Given the description of an element on the screen output the (x, y) to click on. 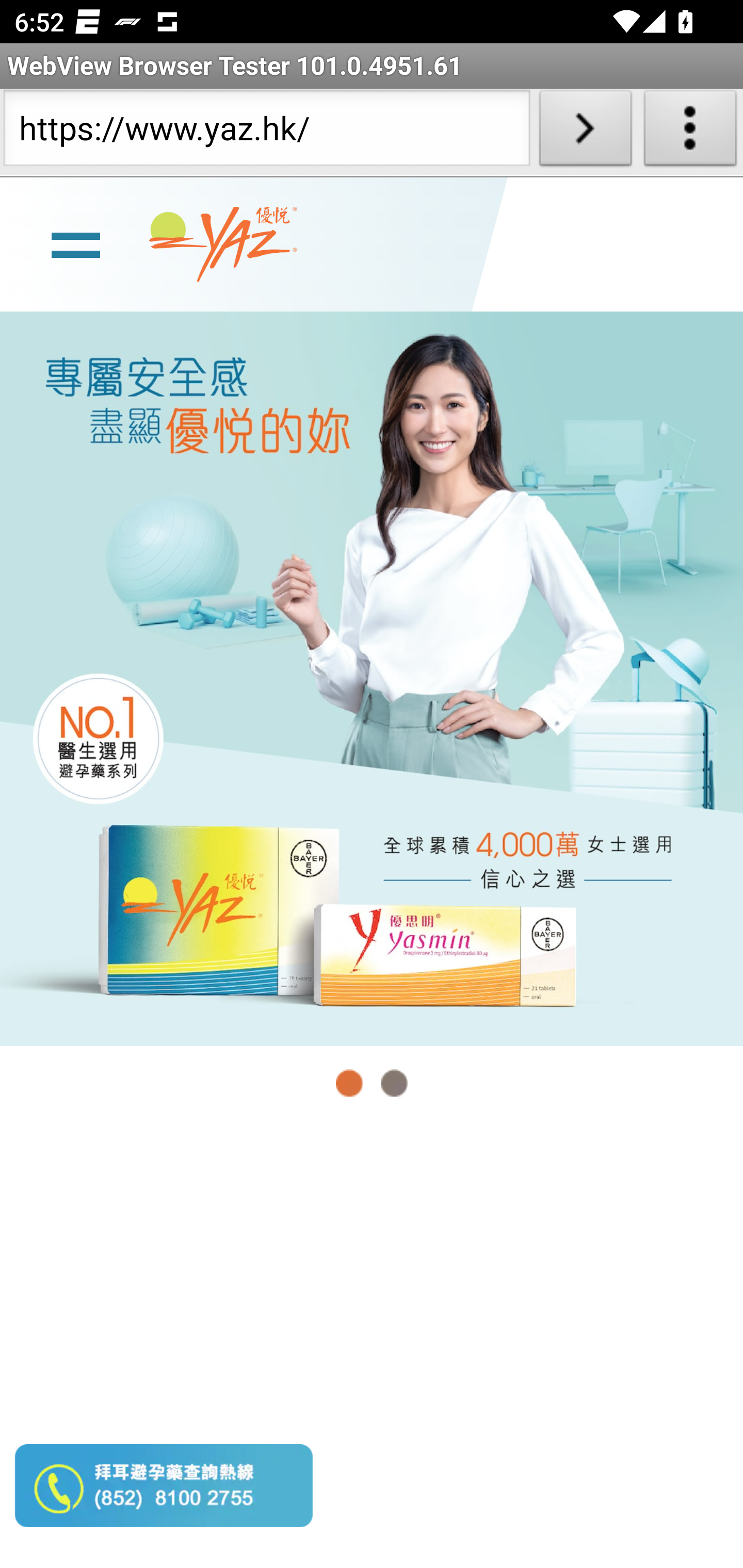
https://www.yaz.hk/ (266, 132)
Load URL (585, 132)
About WebView (690, 132)
www.yaz (222, 244)
line Toggle burger menu (75, 242)
slide 1 Alt tag Alt tag (371, 677)
1 of 2 (349, 1083)
2 of 2 (393, 1083)
Video Player (371, 1345)
